Given the description of an element on the screen output the (x, y) to click on. 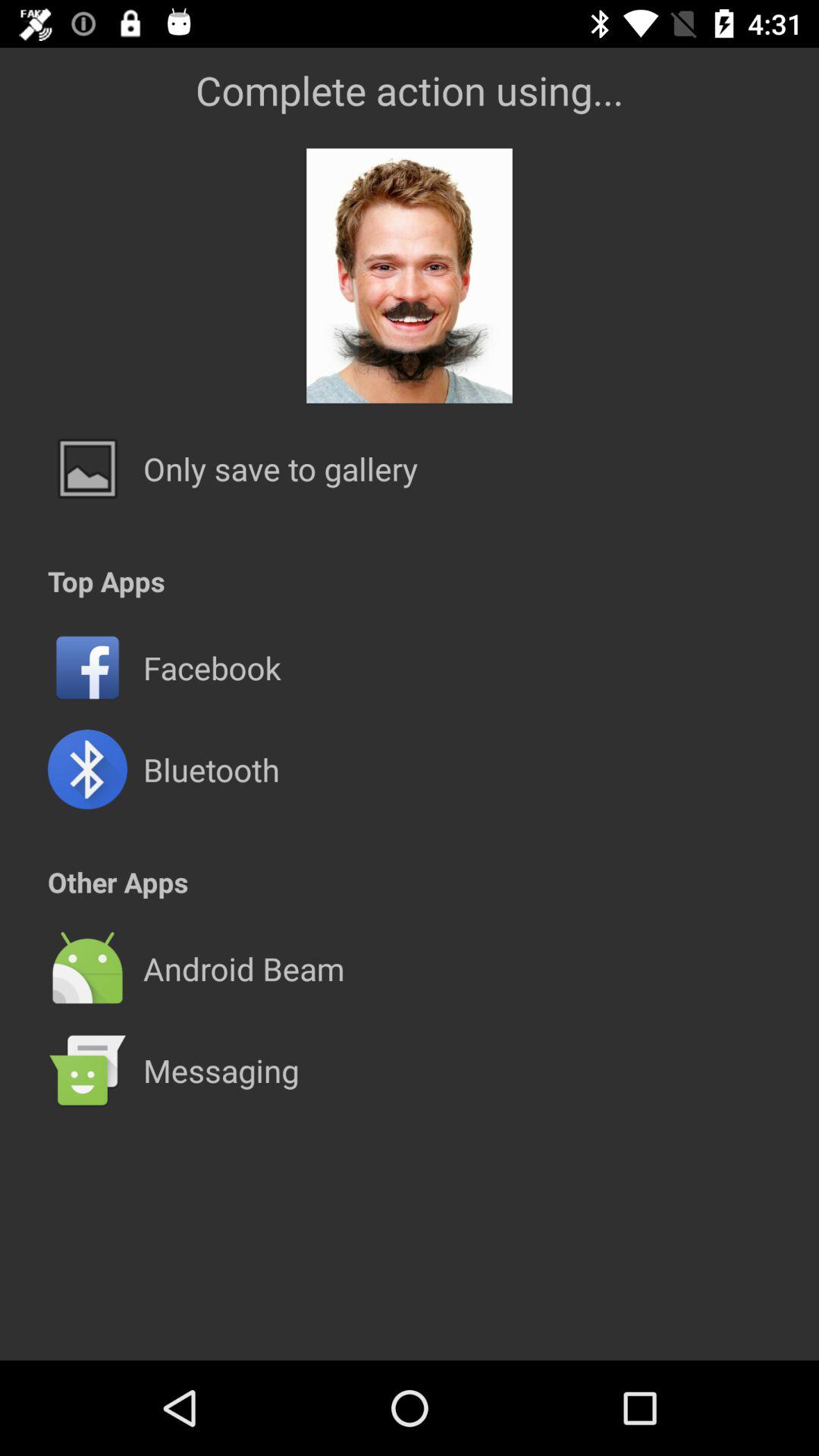
tap the messaging icon (221, 1070)
